Given the description of an element on the screen output the (x, y) to click on. 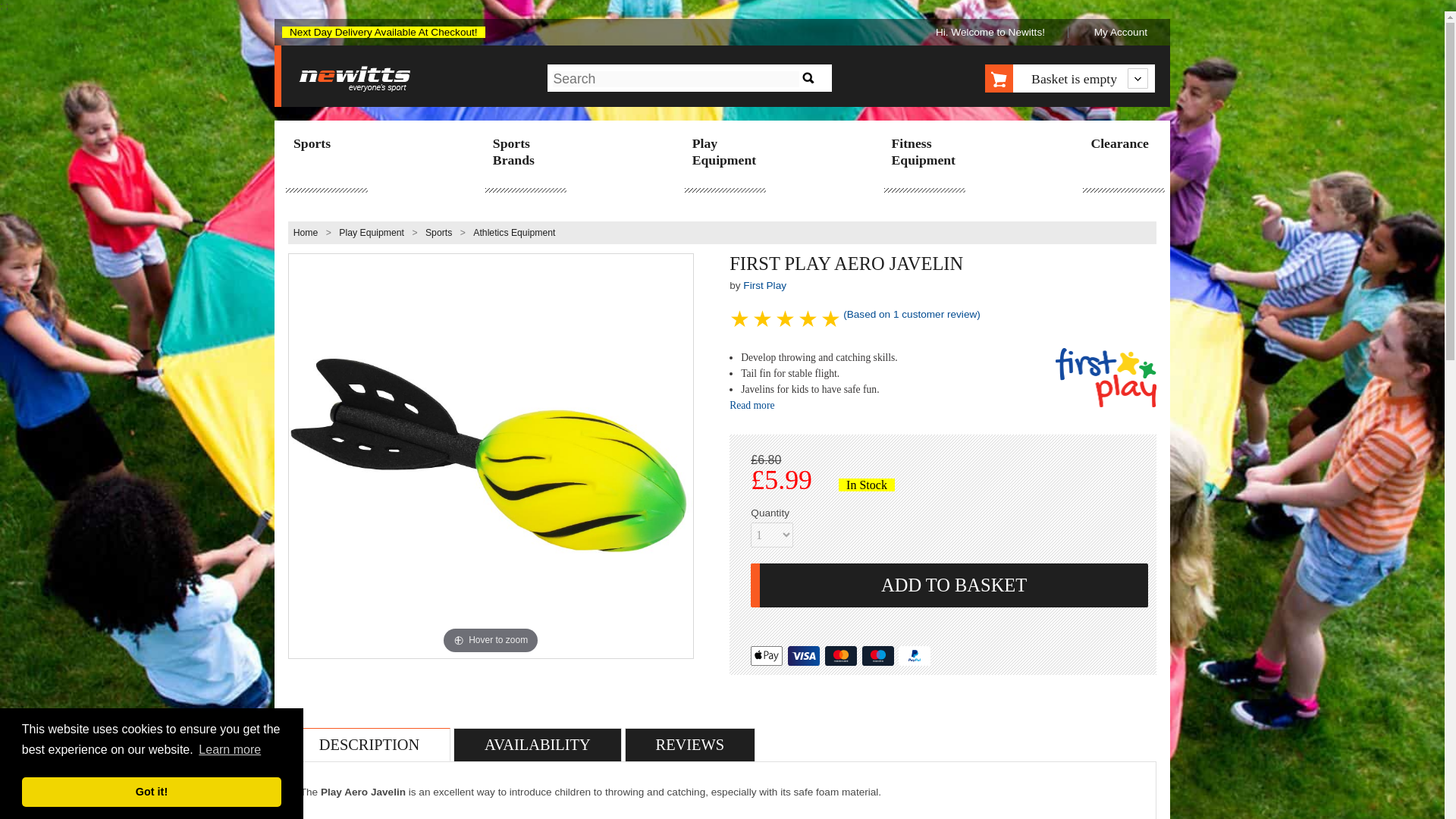
Sports Brands (524, 153)
Athletics Equipment (513, 232)
Basket is empty (1085, 77)
Newitts - everyone's sport (355, 79)
Got it! (151, 791)
Play Equipment (724, 153)
Fitness Equipment (923, 153)
AVAILABILITY (537, 744)
Play Equipment (371, 232)
Clearance (1122, 145)
First Play (764, 285)
Add to basket (949, 585)
Play Equipment (371, 232)
Athletics Equipment (513, 232)
